Given the description of an element on the screen output the (x, y) to click on. 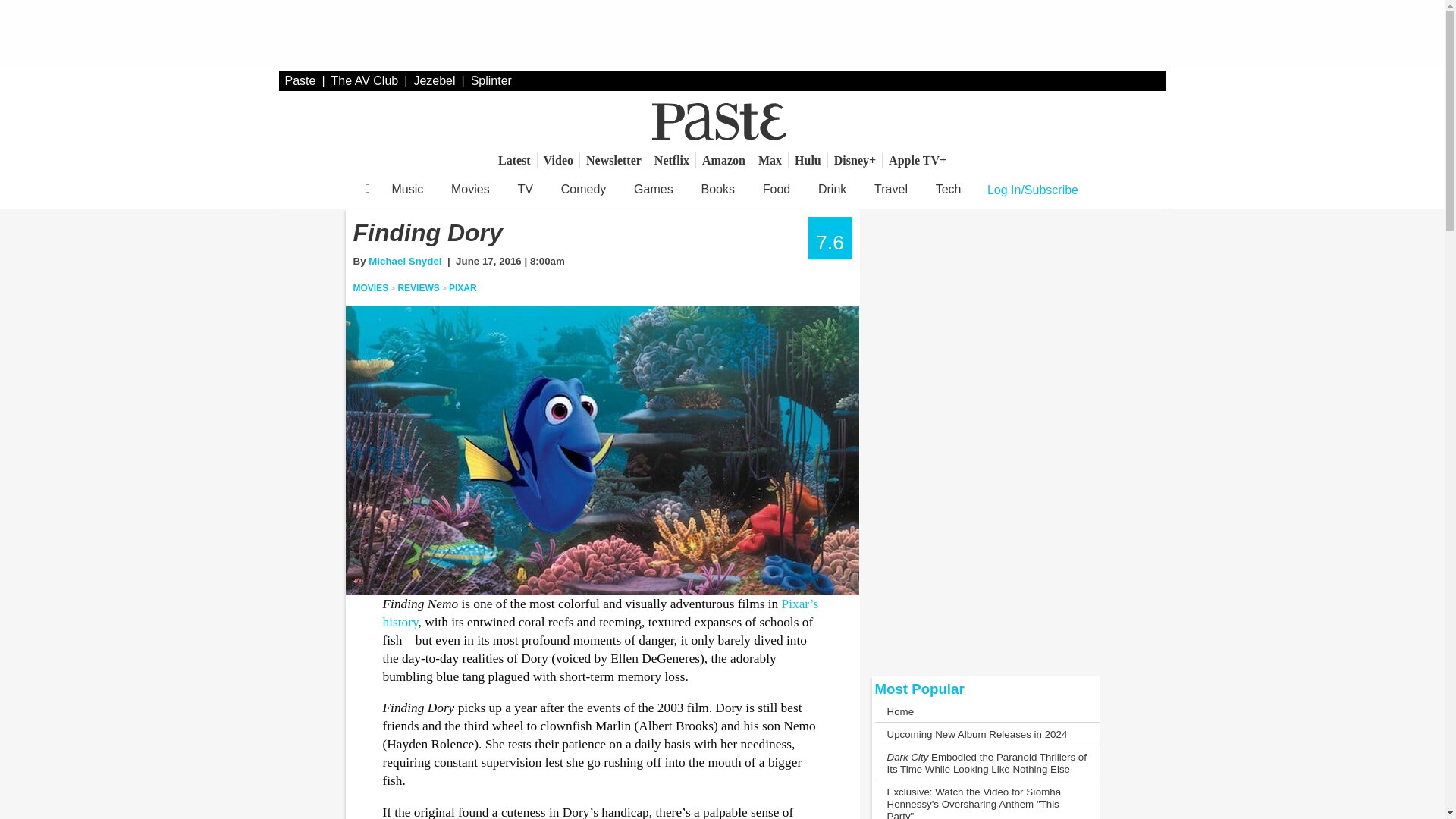
Newsletter (613, 160)
Jezebel (433, 80)
Netflix (671, 160)
The AV Club (364, 80)
Max (769, 160)
Amazon (723, 160)
Splinter (491, 80)
Latest (514, 160)
Hulu (808, 160)
Video (558, 160)
Paste (300, 80)
